Given the description of an element on the screen output the (x, y) to click on. 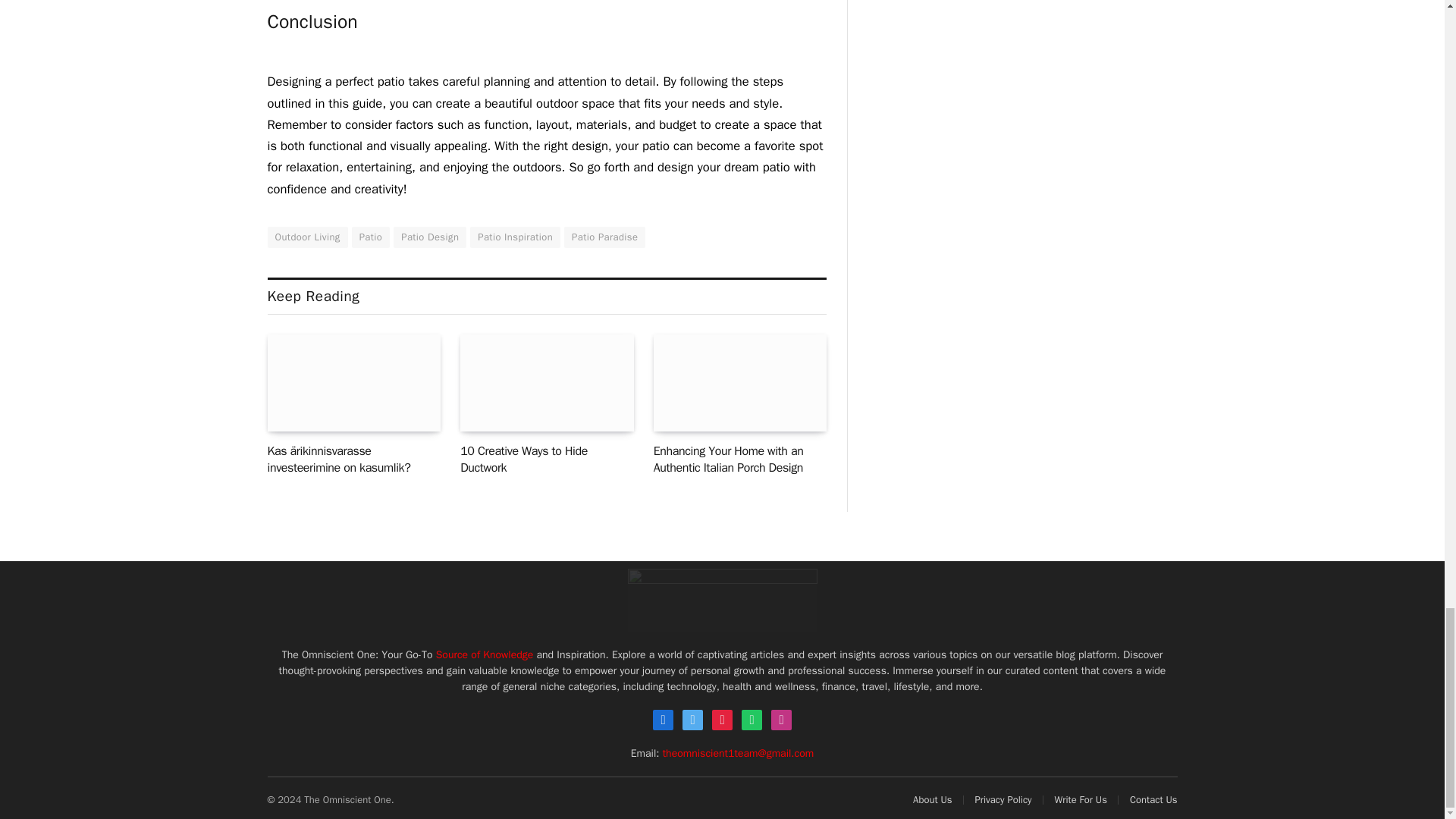
10 Creative Ways to Hide Ductwork (546, 383)
